Given the description of an element on the screen output the (x, y) to click on. 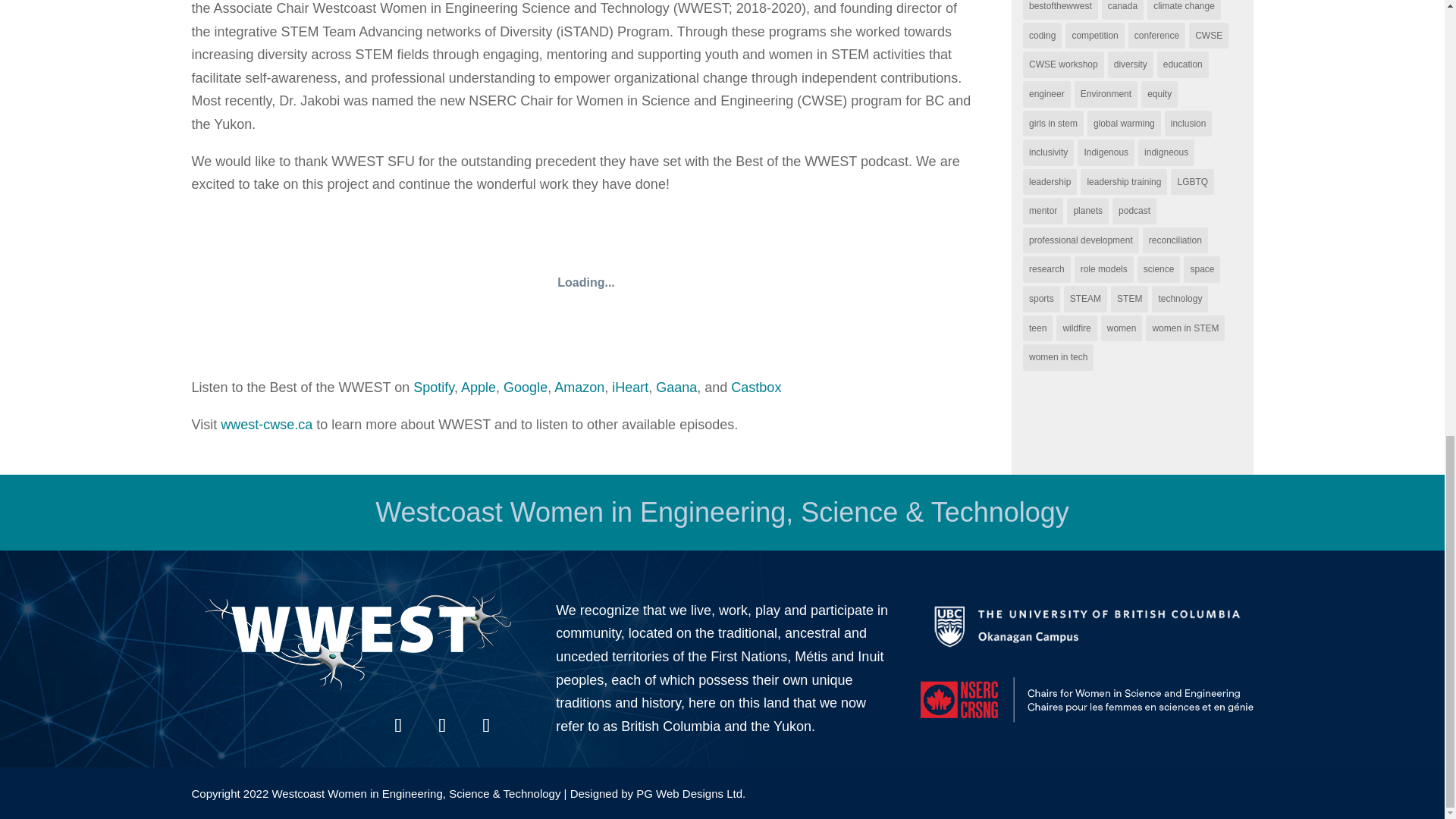
ubc-logo (1086, 626)
Follow on Twitter (442, 725)
logo-neuron-white (358, 641)
Follow on Instagram (486, 725)
Embed Player (584, 282)
Follow on Facebook (397, 725)
